Given the description of an element on the screen output the (x, y) to click on. 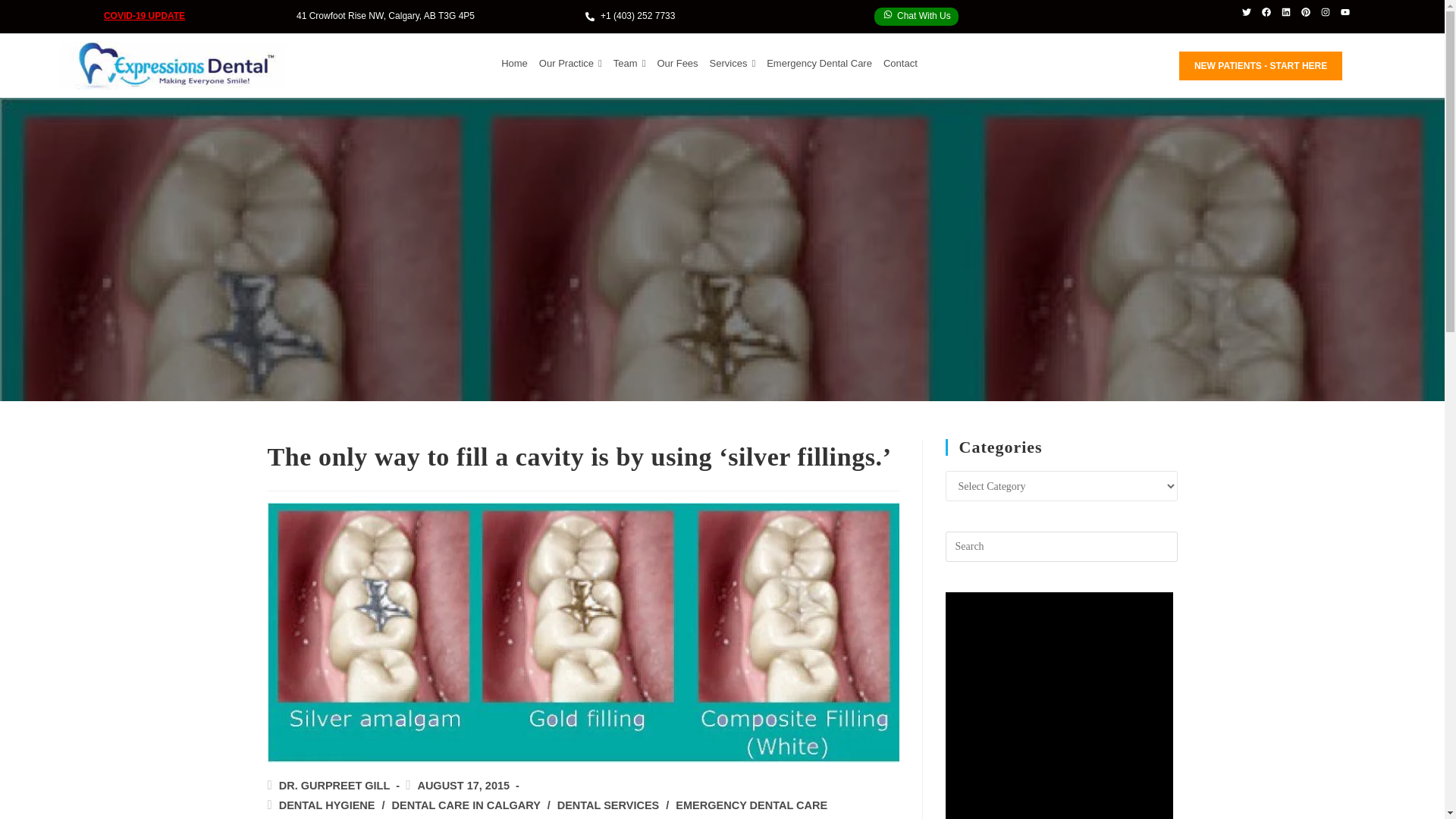
Our Fees (676, 63)
COVID-19 UPDATE (143, 15)
Home (513, 63)
Services (732, 63)
Our Practice (570, 63)
Chat With Us (916, 16)
Team (629, 63)
Posts by Dr. Gurpreet Gill (334, 785)
